Given the description of an element on the screen output the (x, y) to click on. 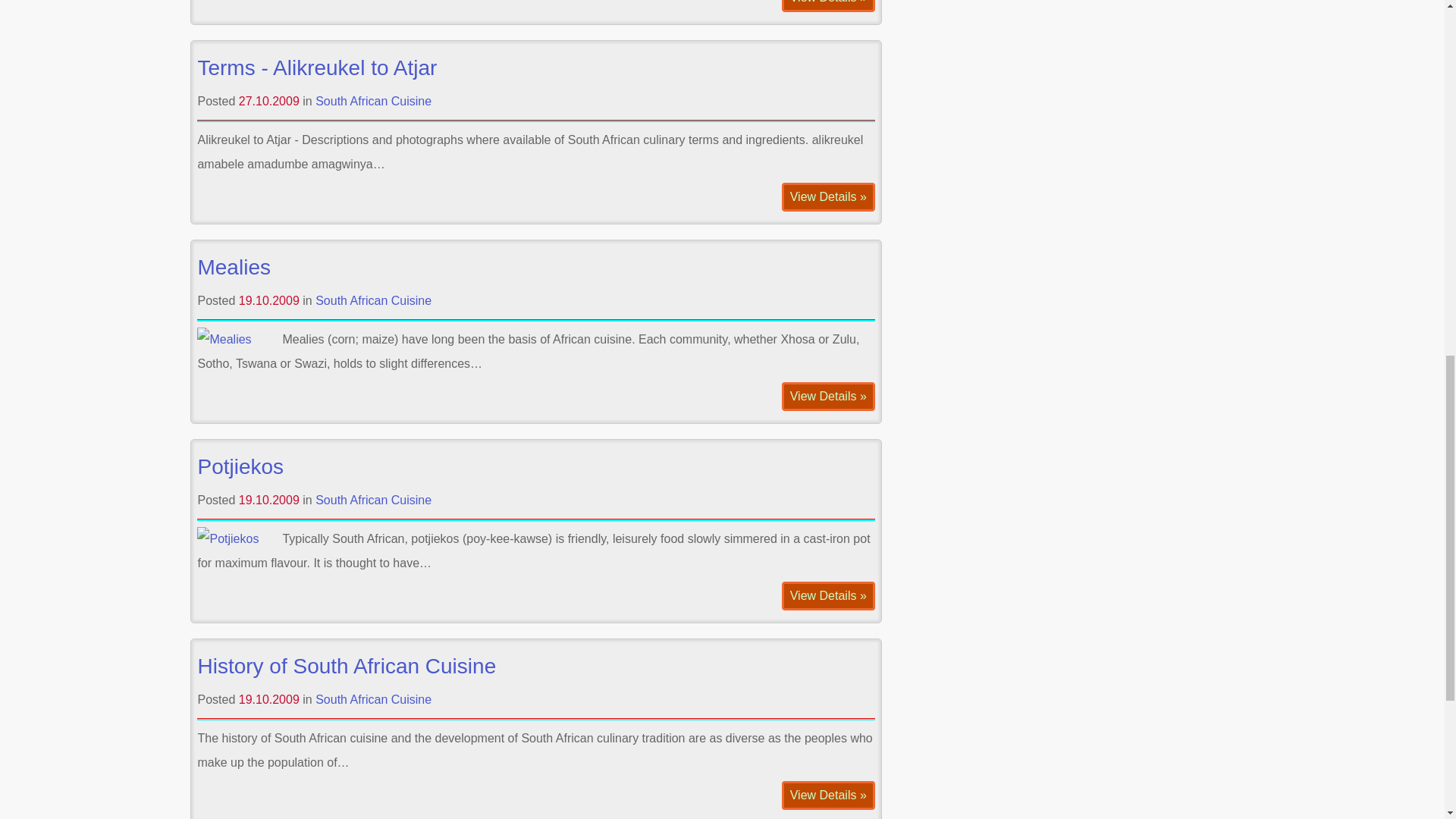
Mealies (232, 267)
South African Cuisine (372, 300)
Terms - Alikreukel to Atjar (316, 67)
History of South African Cuisine (346, 666)
South African Cuisine (372, 698)
Potjiekos (239, 466)
South African Cuisine (372, 499)
South African Cuisine (372, 101)
